Given the description of an element on the screen output the (x, y) to click on. 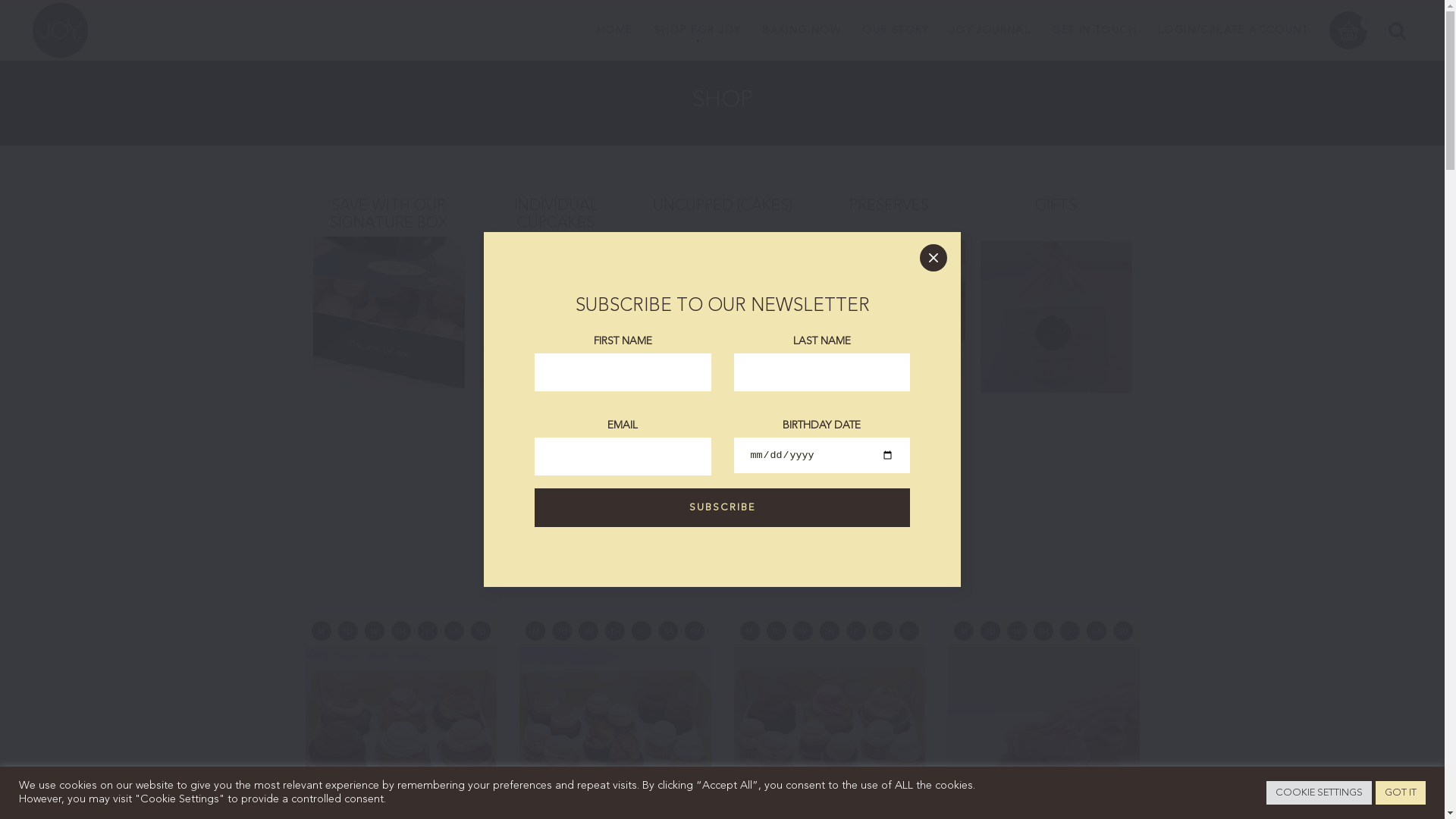
BAKING NOW Element type: text (801, 30)
GIFTS Element type: text (1055, 294)
JOY JOURNAL Element type: text (990, 30)
LOGIN/CREATE ACCOUNT Element type: text (1232, 30)
HOME Element type: text (614, 30)
GET IN TOUCH Element type: text (1093, 30)
GOT IT Element type: text (1400, 792)
SUBSCRIBE Element type: text (722, 507)
SAVE WITH OUR
SIGNATURE BOX Element type: text (387, 292)
PRESERVES Element type: text (888, 294)
UNCUPPED (CAKES) Element type: text (721, 294)
COOKIE SETTINGS Element type: text (1318, 792)
SHOP FOR JOY Element type: text (696, 30)
INDIVIDUAL
CUPCAKES Element type: text (554, 292)
OUR STORY Element type: text (895, 30)
